Given the description of an element on the screen output the (x, y) to click on. 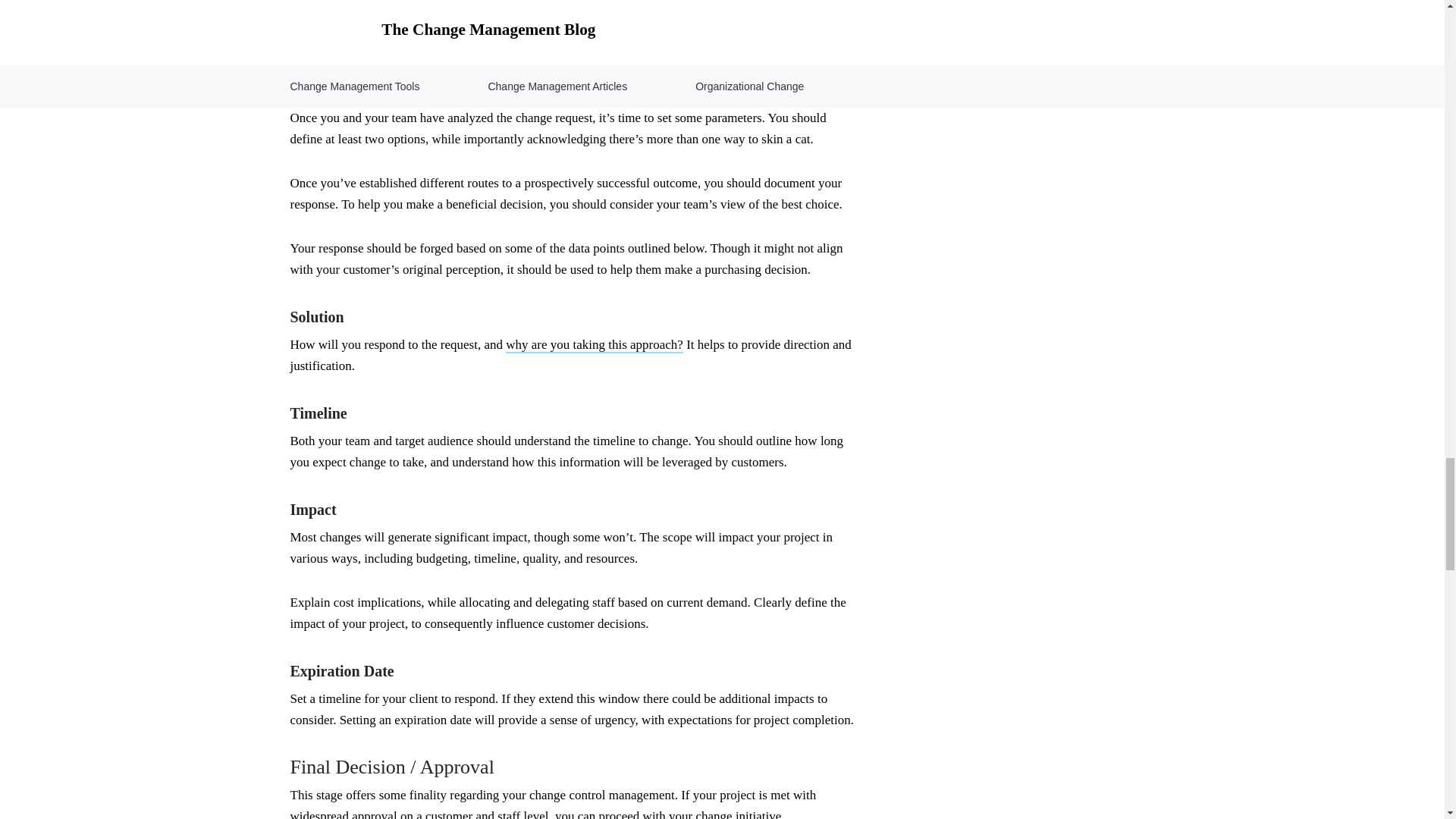
why are you taking this approach? (593, 344)
